Given the description of an element on the screen output the (x, y) to click on. 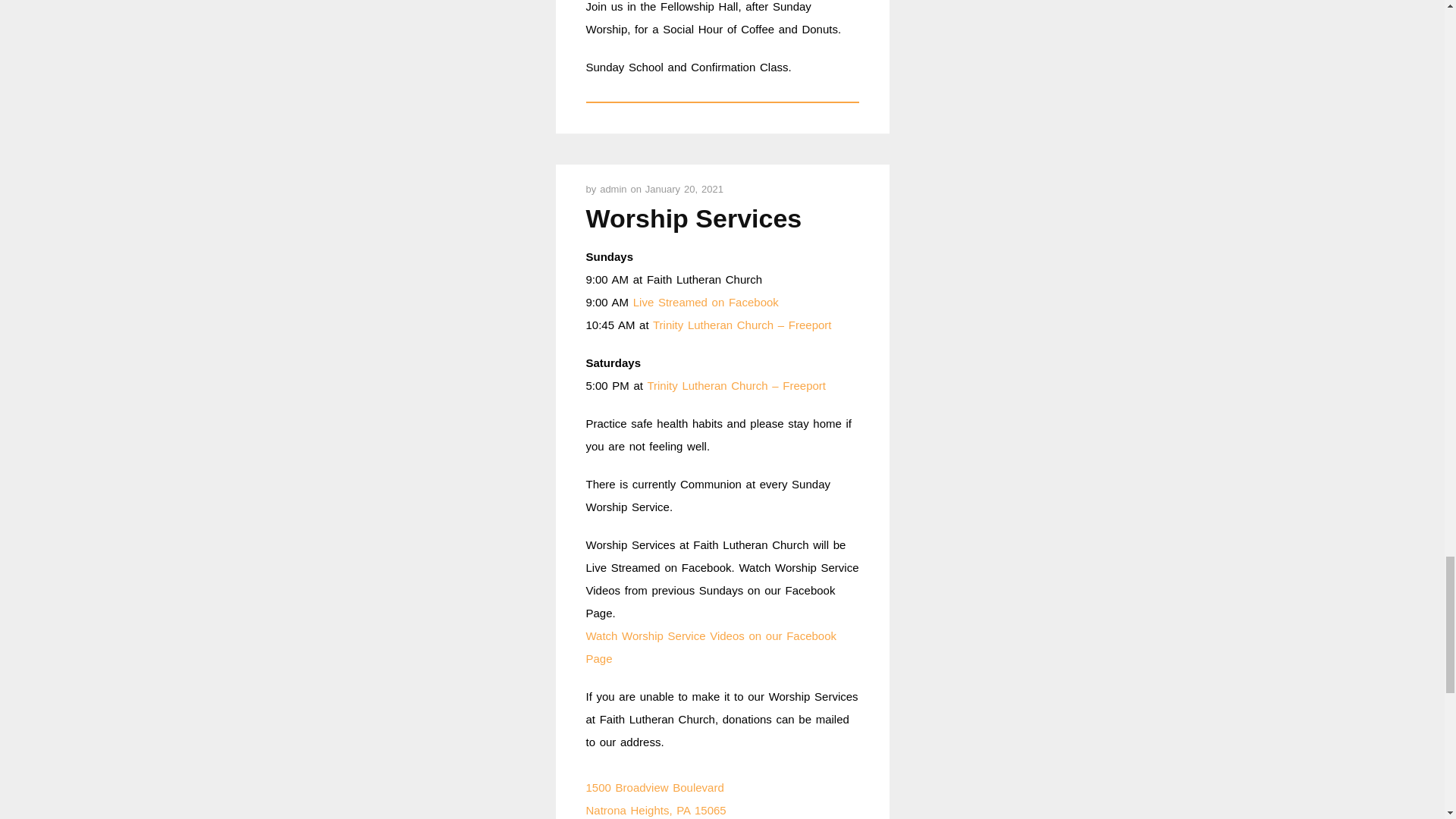
Worship Services (693, 217)
admin (614, 188)
